Given the description of an element on the screen output the (x, y) to click on. 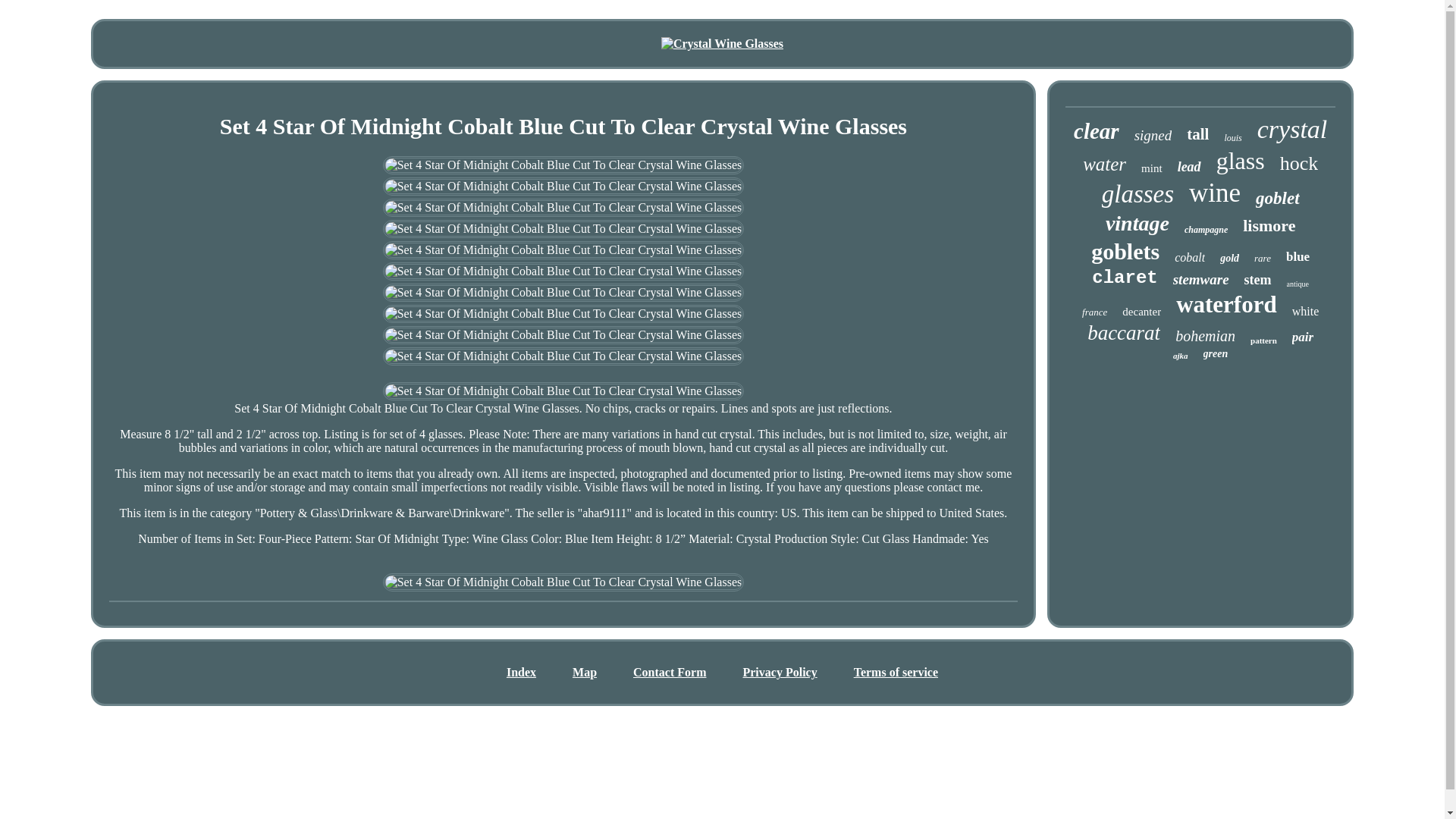
rare (1262, 258)
signed (1153, 135)
france (1093, 312)
blue (1296, 256)
crystal (1292, 129)
hock (1299, 163)
decanter (1141, 311)
cobalt (1189, 257)
goblets (1124, 251)
vintage (1137, 223)
clear (1096, 131)
